Given the description of an element on the screen output the (x, y) to click on. 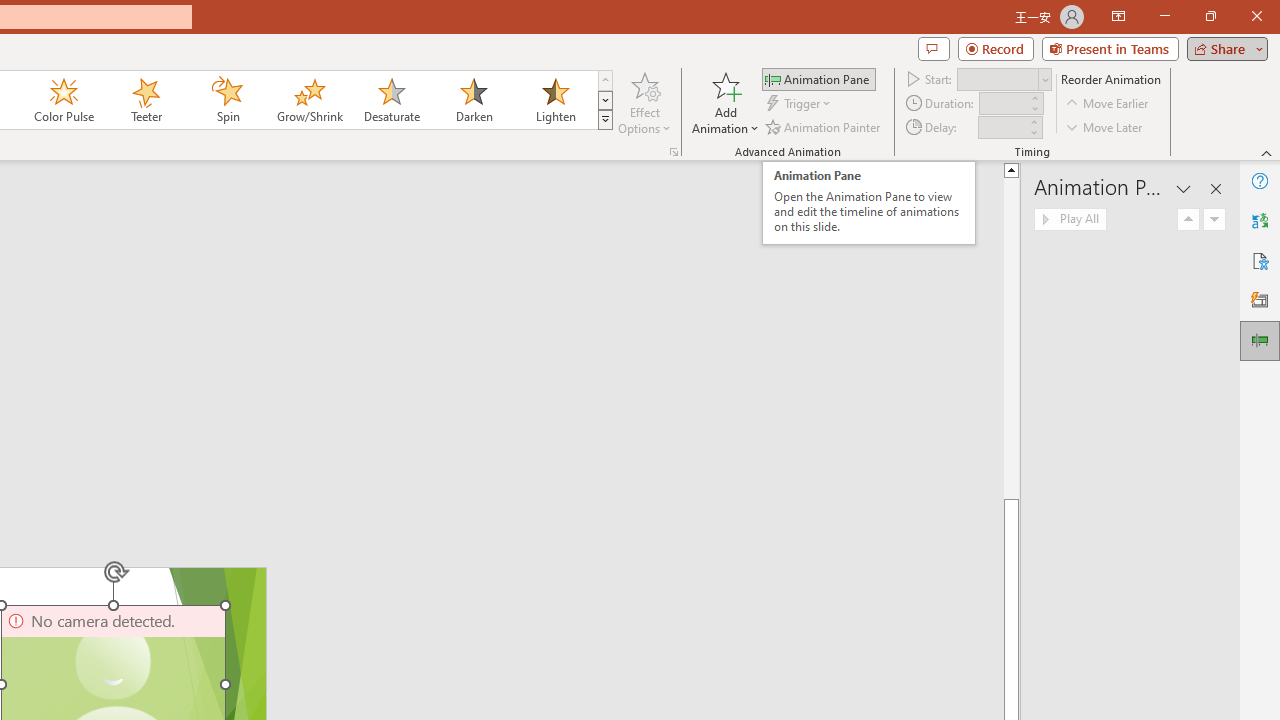
Spin (227, 100)
Animation Delay (1002, 127)
Animation Styles (605, 120)
Darken (473, 100)
Animation Duration (1003, 103)
Play All (1070, 219)
